Given the description of an element on the screen output the (x, y) to click on. 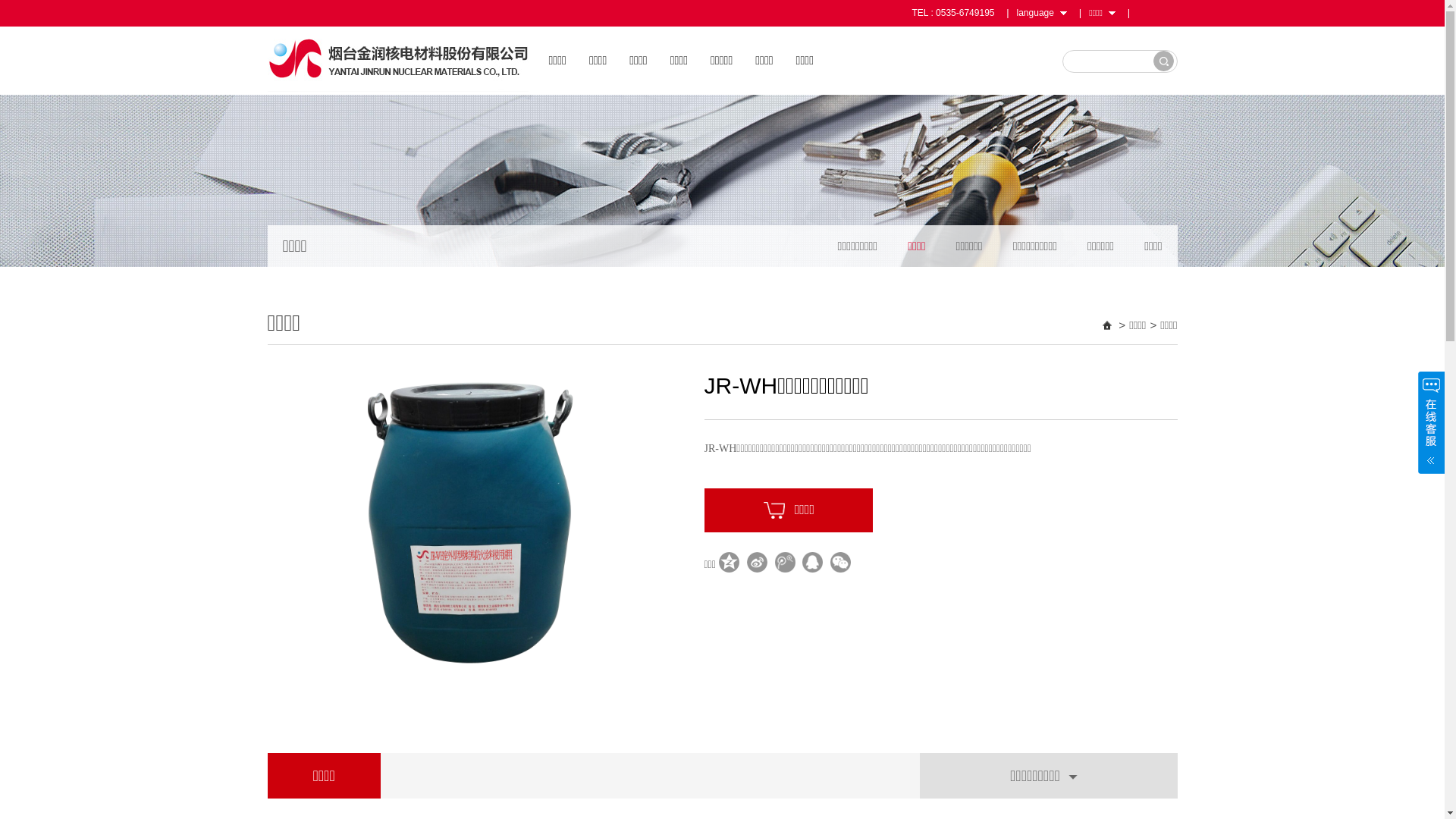
0535-6749195 Element type: text (964, 12)
